Given the description of an element on the screen output the (x, y) to click on. 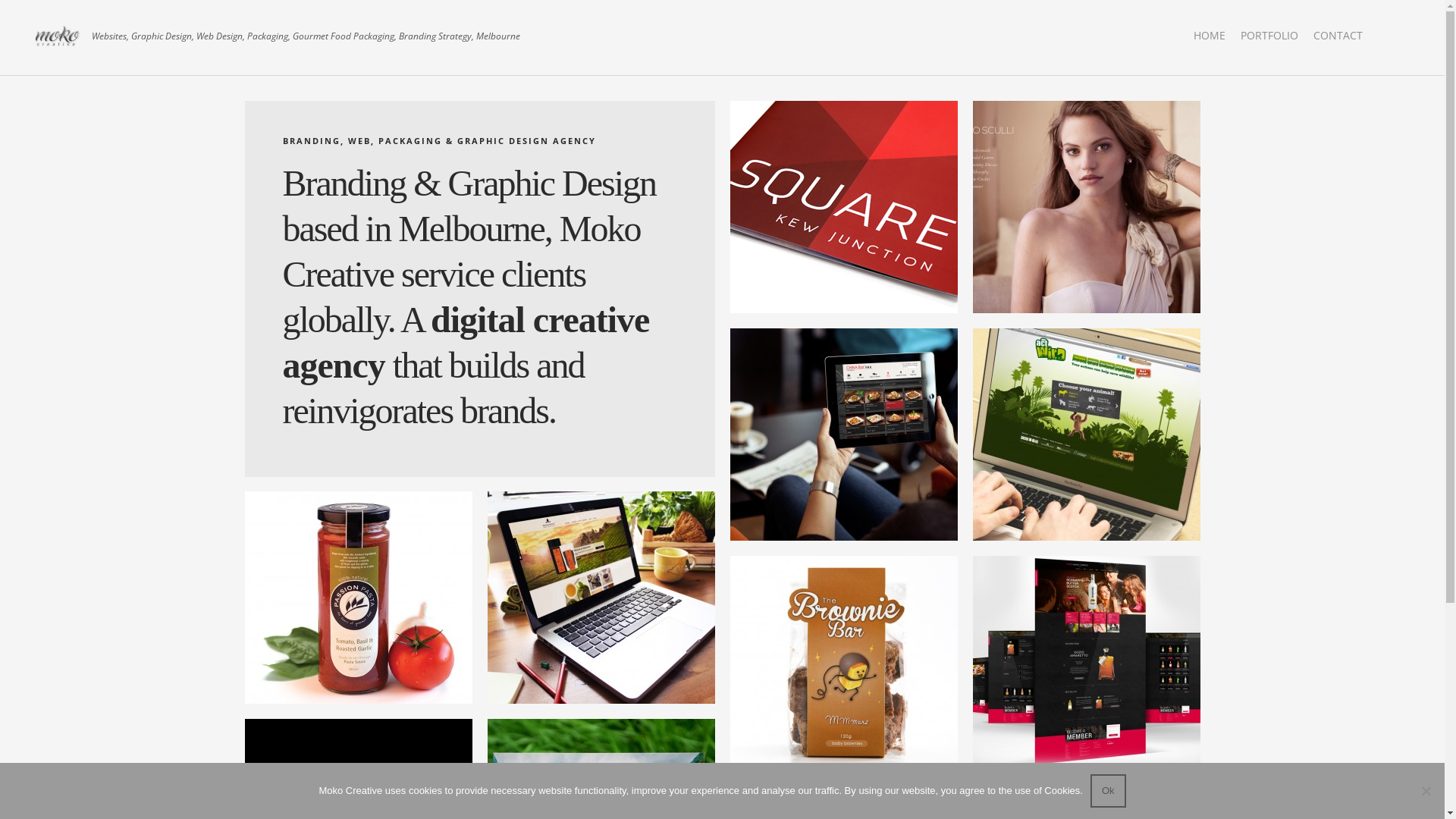
CONTACT Element type: text (1337, 35)
PORTFOLIO Element type: text (1269, 35)
No Element type: hover (1425, 790)
Ok Element type: text (1108, 790)
HOME Element type: text (1209, 35)
